Given the description of an element on the screen output the (x, y) to click on. 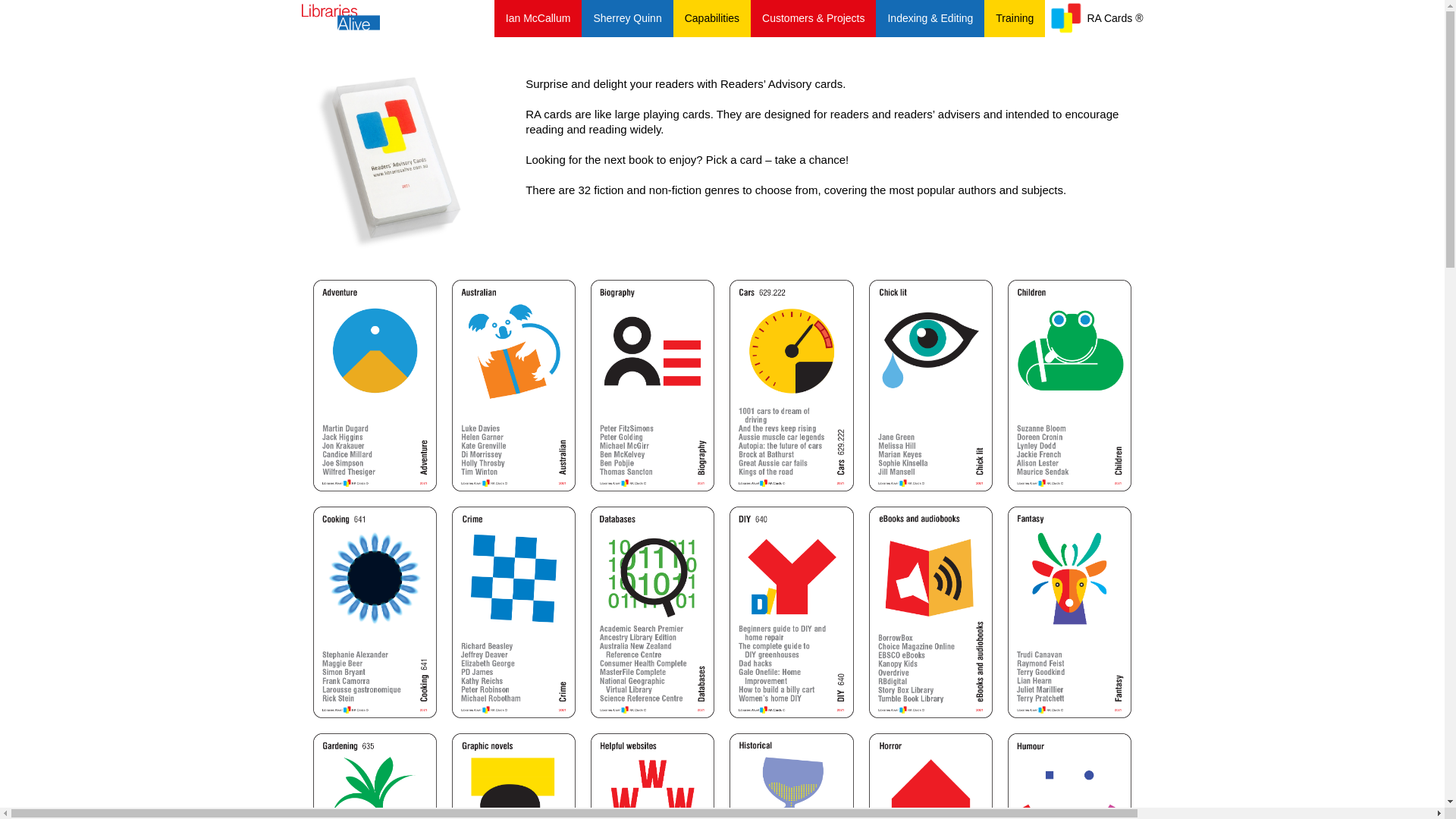
Sherrey Quinn Element type: text (626, 17)
Ian McCallum Element type: text (538, 17)
Capabilities Element type: text (711, 17)
Indexing & Editing Element type: text (929, 17)
Customers & Projects Element type: text (812, 17)
Libraries Alive Element type: hover (334, 16)
Training Element type: text (1014, 17)
